Given the description of an element on the screen output the (x, y) to click on. 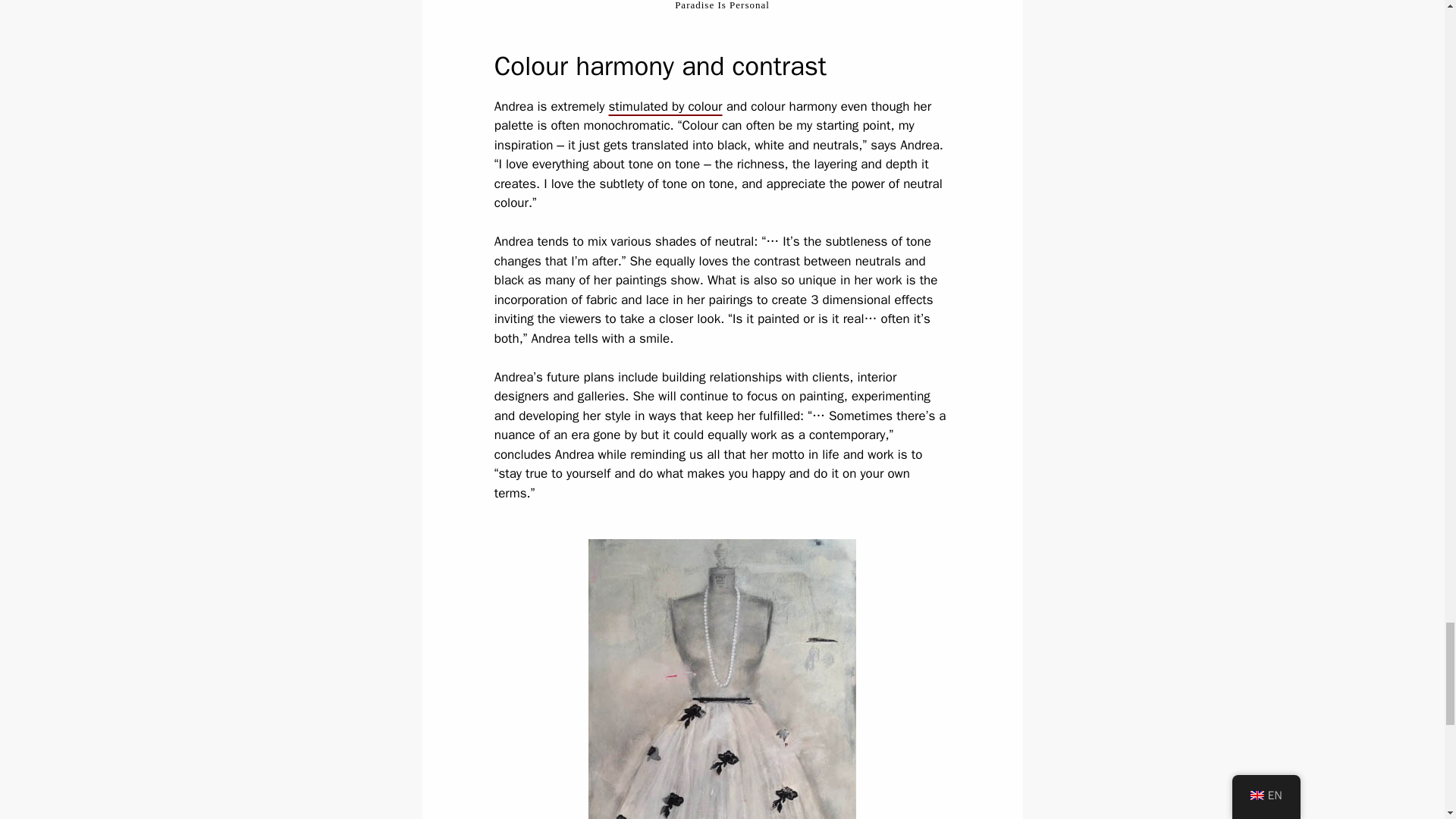
Andrea Stajan-Ferkul: Fashion and Art Collusion (722, 678)
stimulated by colour (665, 106)
